Given the description of an element on the screen output the (x, y) to click on. 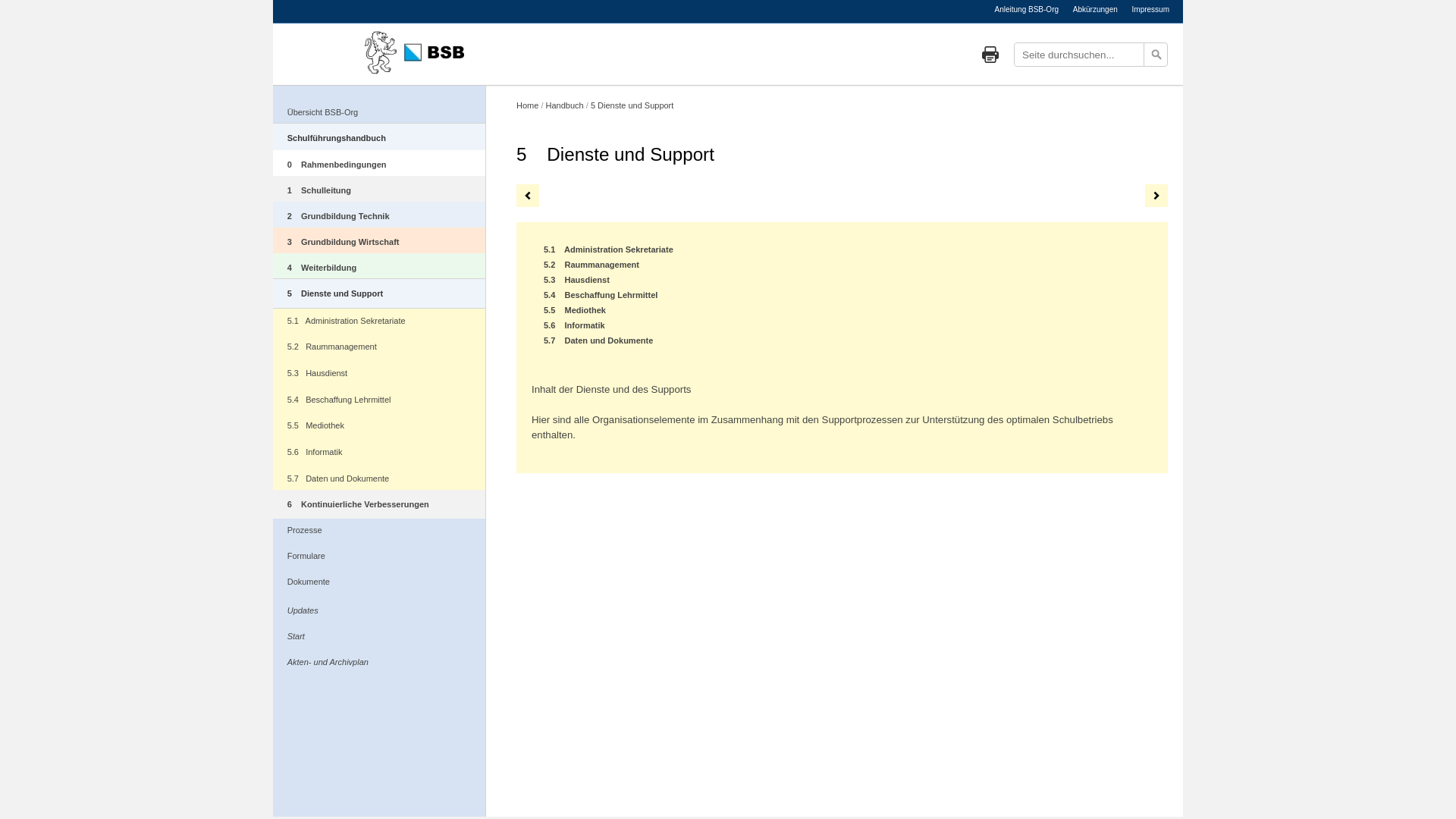
5.3    Hausdienst Element type: text (576, 279)
5.5   Mediothek Element type: text (379, 427)
5.3   Hausdienst Element type: text (379, 373)
5.1    Administration Sekretariate Element type: text (608, 249)
Anleitung BSB-Org Element type: text (1026, 9)
5.5    Mediothek Element type: text (574, 309)
Updates Element type: text (379, 610)
5.4    Beschaffung Lehrmittel Element type: text (600, 294)
6    Kontinuierliche Verbesserungen Element type: text (379, 503)
Prozesse Element type: text (379, 529)
2    Grundbildung Technik Element type: text (379, 215)
3    Grundbildung Wirtschaft Element type: text (379, 241)
5.6   Informatik Element type: text (379, 452)
5.2   Raummanagement Element type: text (379, 348)
Akten- und Archivplan Element type: text (379, 661)
5.2    Raummanagement Element type: text (591, 264)
5.7   Daten und Dokumente Element type: text (379, 479)
5 Dienste und Support Element type: text (631, 104)
Handbuch Element type: text (564, 104)
Impressum Element type: text (1150, 9)
1    Schulleitung Element type: text (379, 189)
4    Weiterbildung Element type: text (379, 267)
Home Element type: text (527, 104)
Start Element type: text (379, 635)
5.1   Administration Sekretariate Element type: text (379, 321)
Drucken Element type: hover (990, 54)
5.6    Informatik Element type: text (574, 324)
0    Rahmenbedingungen Element type: text (379, 164)
5.7    Daten und Dokumente Element type: text (597, 340)
Formulare Element type: text (379, 555)
5.4   Beschaffung Lehrmittel Element type: text (379, 400)
Dokumente Element type: text (379, 581)
5    Dienste und Support Element type: text (379, 293)
